Given the description of an element on the screen output the (x, y) to click on. 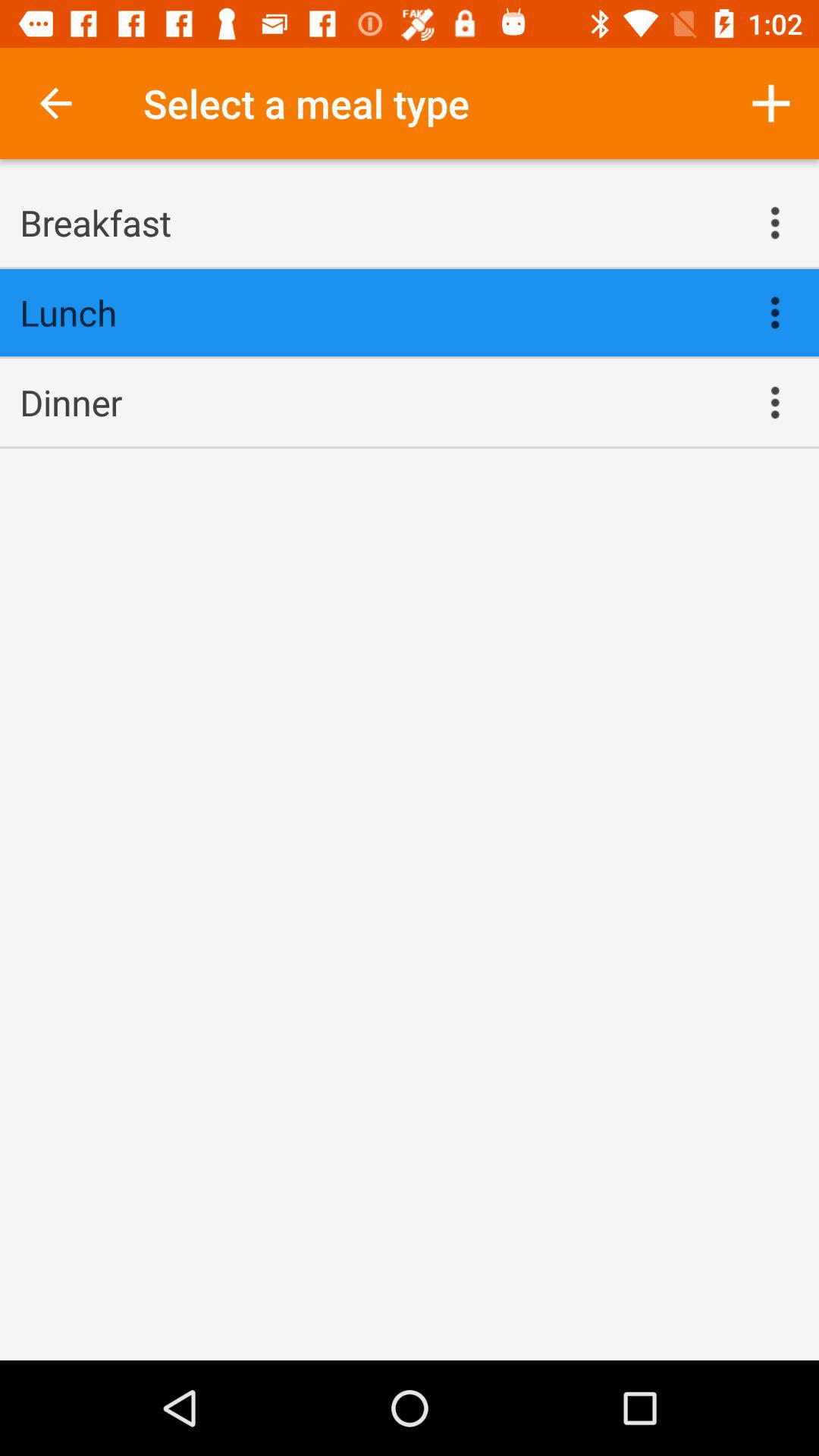
launch item above breakfast (55, 103)
